Given the description of an element on the screen output the (x, y) to click on. 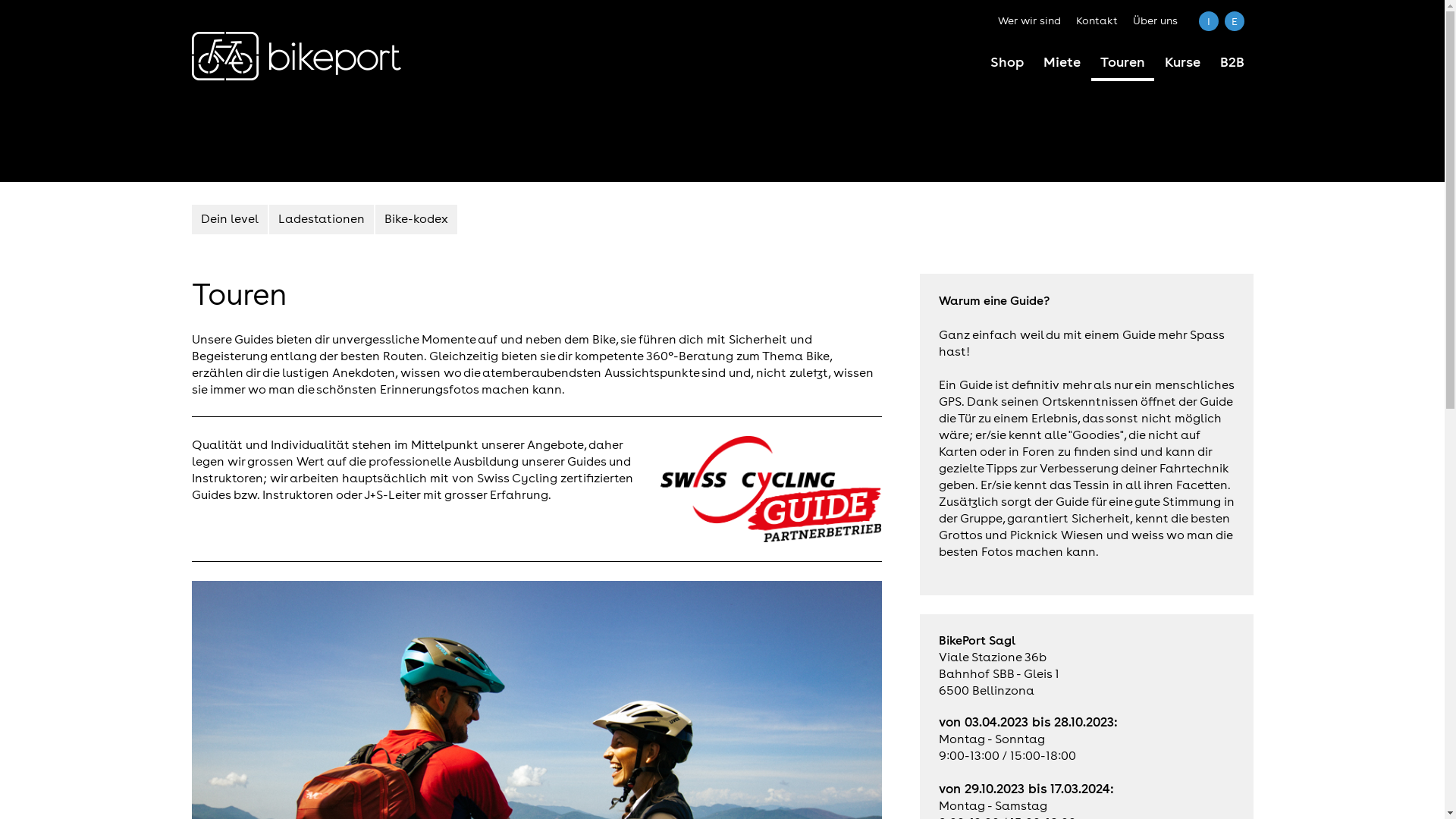
Kontakt Element type: text (1096, 19)
E Element type: text (1233, 21)
Kurse Element type: text (1182, 63)
Touren Element type: text (1121, 64)
Dein level Element type: text (228, 219)
Ladestationen Element type: text (320, 219)
Shop Element type: text (1006, 63)
Bike-kodex Element type: text (415, 219)
Wer wir sind Element type: text (1028, 19)
B2B Element type: text (1231, 63)
I Element type: text (1207, 21)
Miete Element type: text (1061, 63)
